Given the description of an element on the screen output the (x, y) to click on. 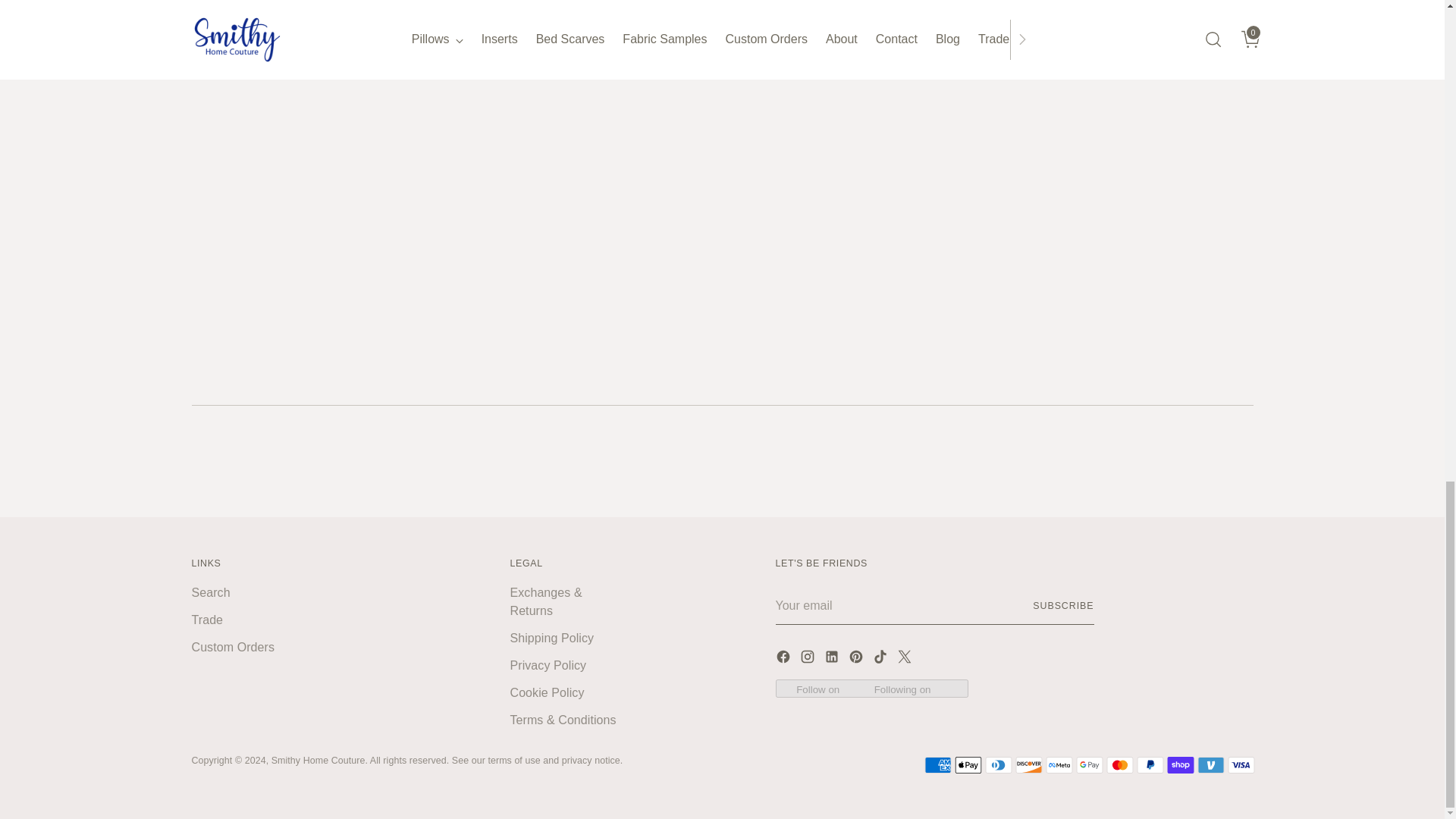
Smithy Home Couture on Pinterest (856, 659)
Smithy Home Couture on Twitter (905, 659)
